Given the description of an element on the screen output the (x, y) to click on. 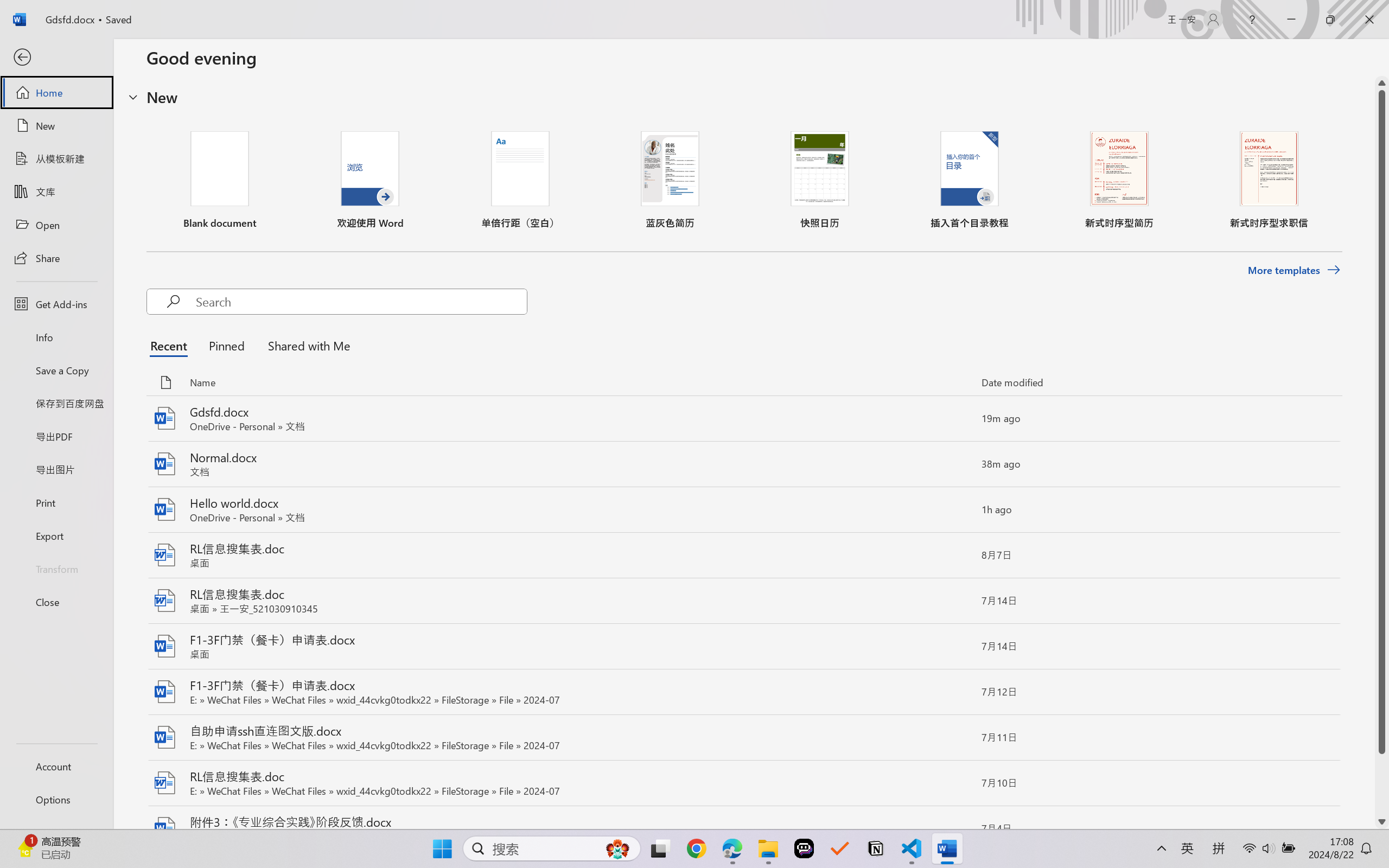
play Record a Presentation (1257, 419)
Date (800, 556)
